Given the description of an element on the screen output the (x, y) to click on. 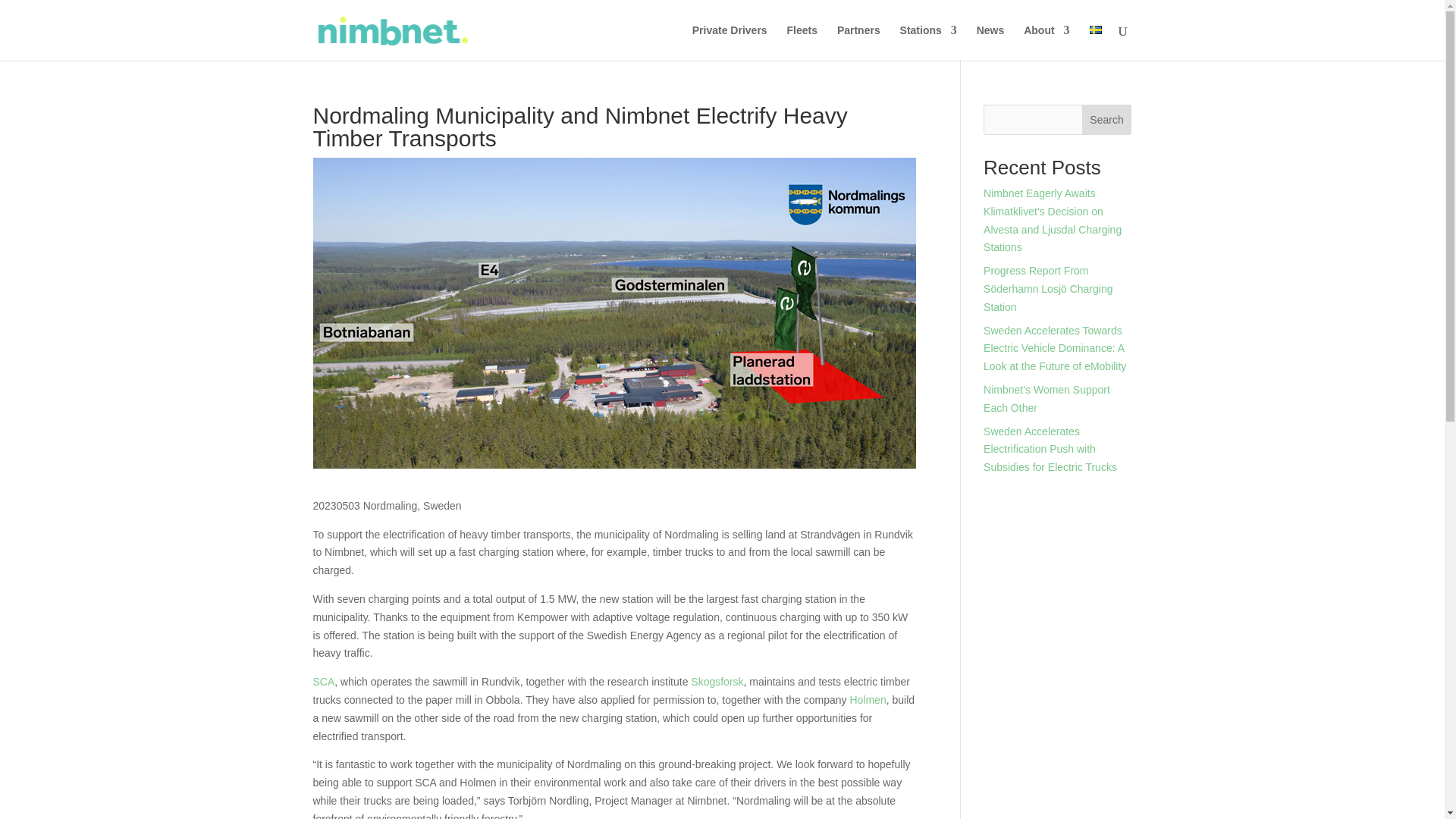
Search (1106, 119)
Partners (858, 42)
SCA (323, 681)
Stations (927, 42)
Holmen (866, 699)
Private Drivers (730, 42)
About (1045, 42)
Skogsforsk (716, 681)
